Given the description of an element on the screen output the (x, y) to click on. 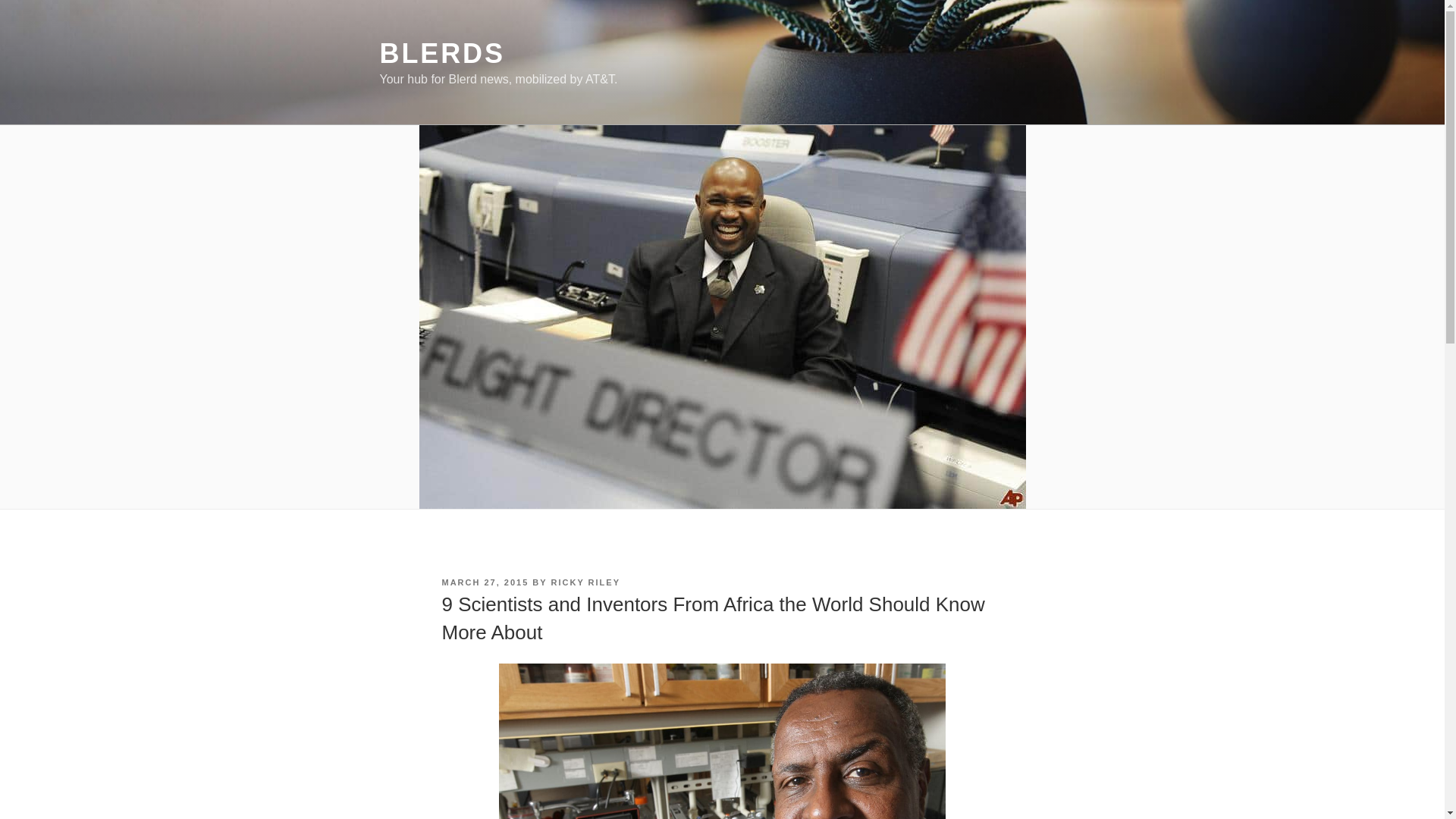
MARCH 27, 2015 (484, 582)
BLERDS (440, 52)
RICKY RILEY (585, 582)
